Given the description of an element on the screen output the (x, y) to click on. 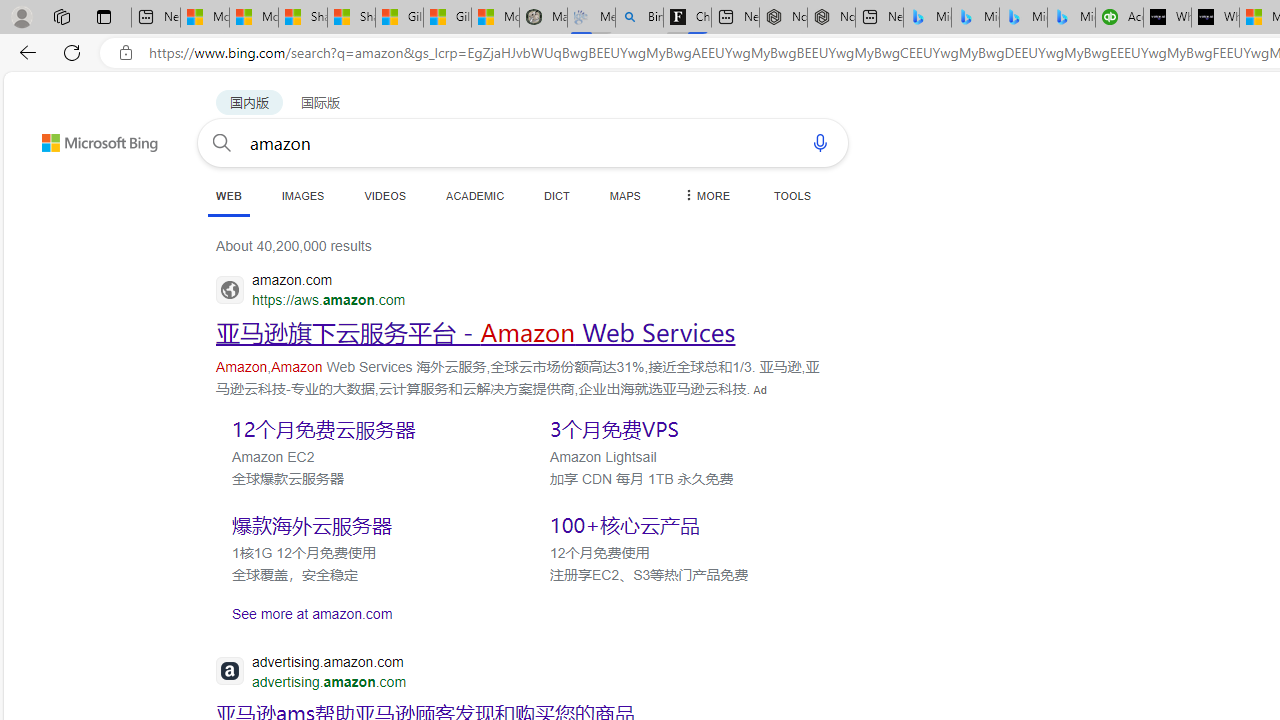
Skip to content (63, 133)
SERP,5550 (365, 428)
Chloe Sorvino (687, 17)
Microsoft Bing Travel - Shangri-La Hotel Bangkok (1071, 17)
SERP,5547 (476, 331)
Shanghai, China weather forecast | Microsoft Weather (351, 17)
TOOLS (792, 195)
WEB (228, 195)
TOOLS (792, 195)
DICT (557, 195)
Search using voice (820, 142)
